Given the description of an element on the screen output the (x, y) to click on. 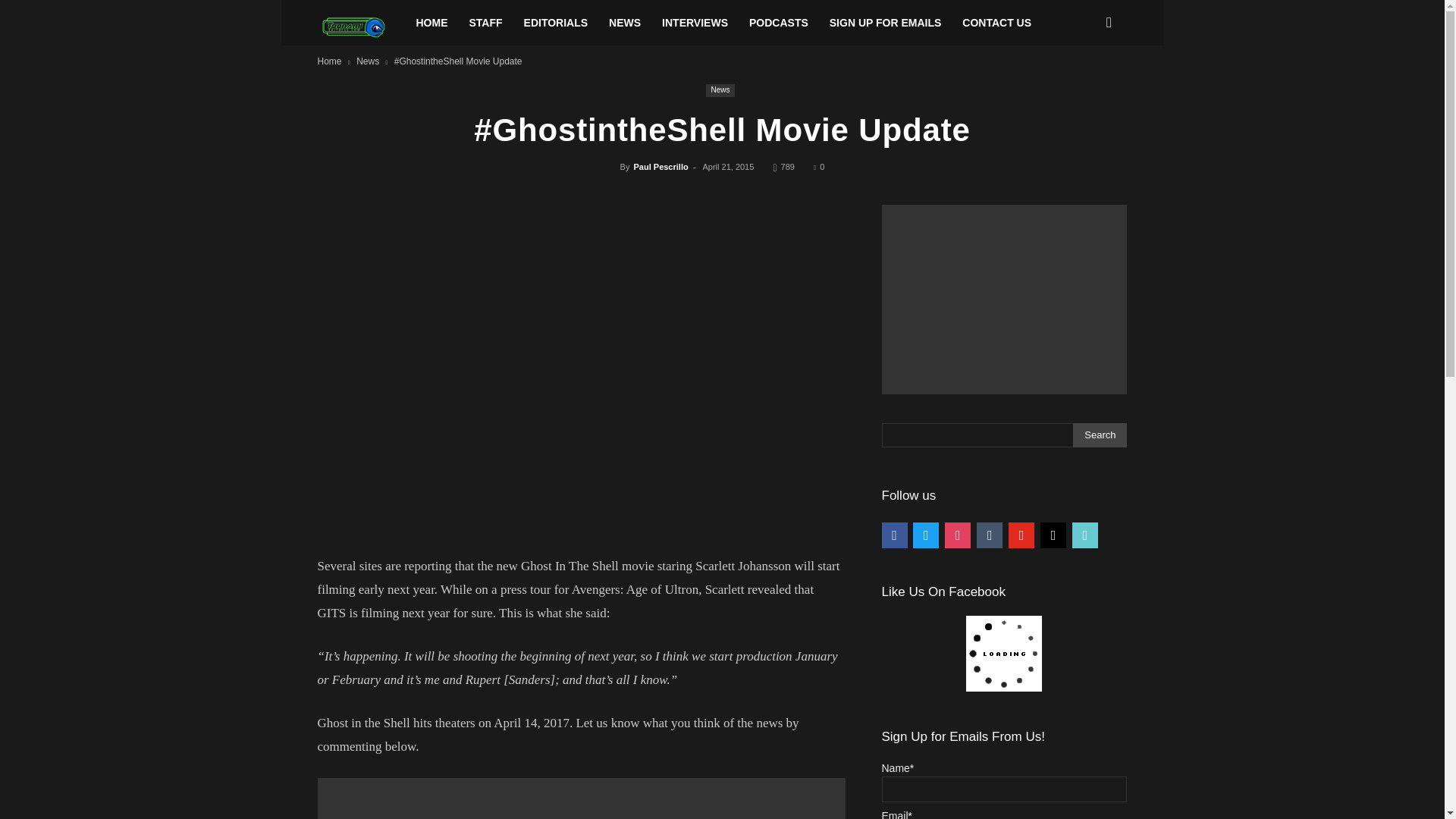
Twitter (925, 534)
EDITORIALS (555, 22)
Instagram (957, 534)
View all posts in News (367, 61)
CONTACT US (997, 22)
Facebook (893, 534)
Default Label (989, 534)
STAFF (485, 22)
INTERVIEWS (694, 22)
Toonami Faithful (360, 26)
